Given the description of an element on the screen output the (x, y) to click on. 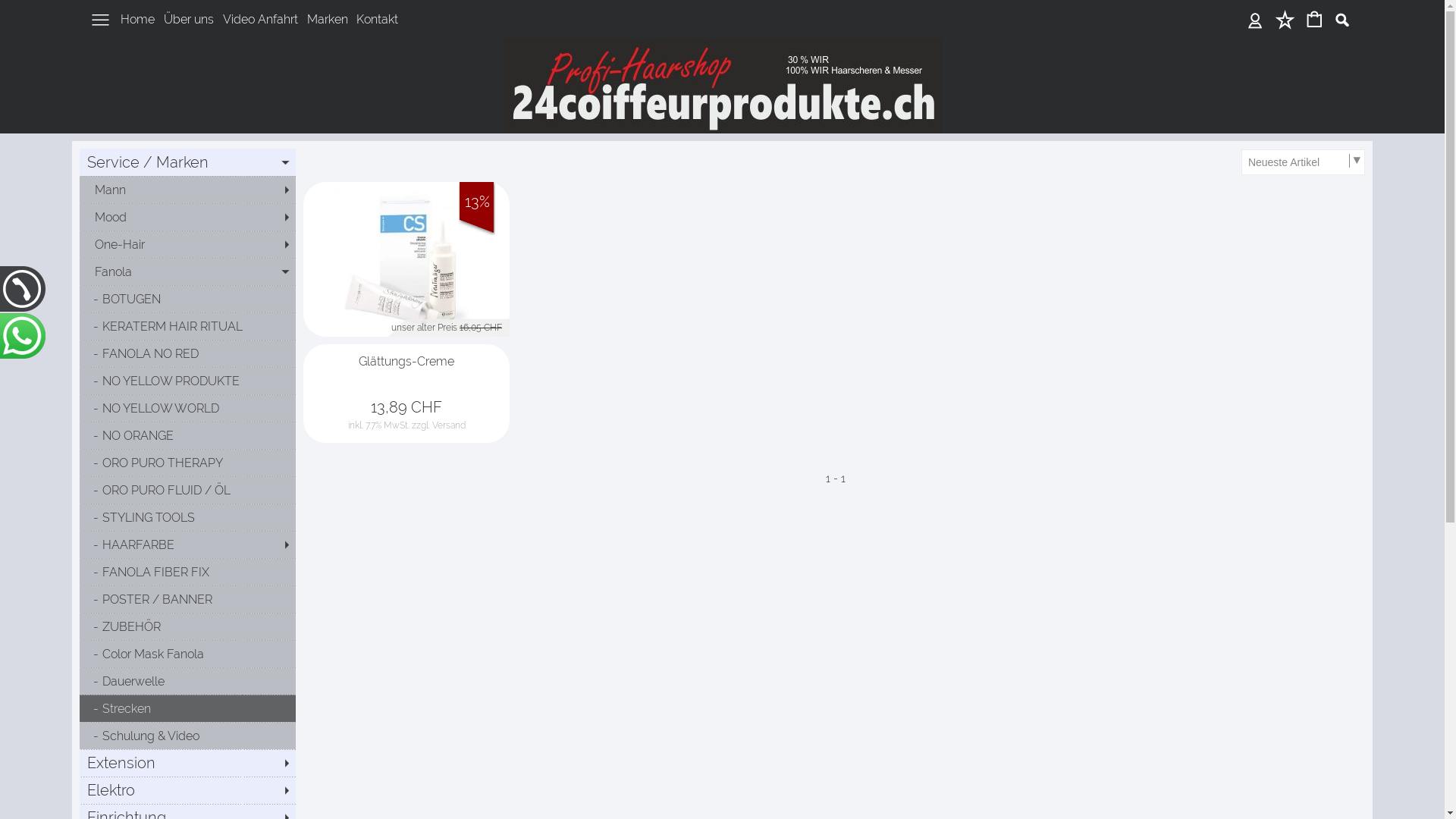
  Element type: text (1284, 20)
Home Element type: text (137, 18)
Marken Element type: text (327, 18)
  Element type: text (1314, 20)
zzgl. Versand Element type: text (437, 425)
Kontakt Element type: text (377, 18)
Video Anfahrt Element type: text (260, 18)
